Given the description of an element on the screen output the (x, y) to click on. 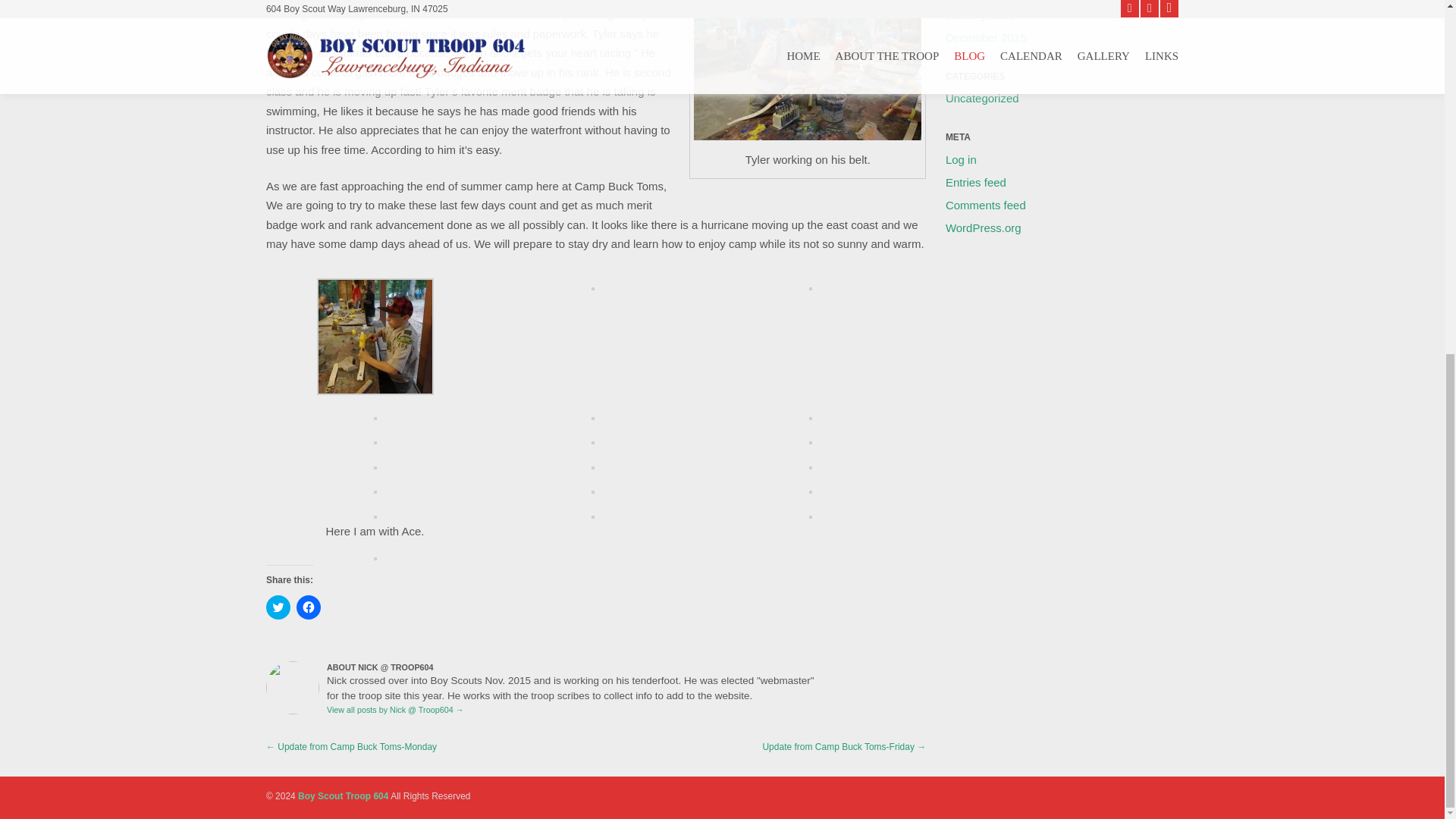
Click to share on Facebook (308, 607)
Click to share on Twitter (277, 607)
